Given the description of an element on the screen output the (x, y) to click on. 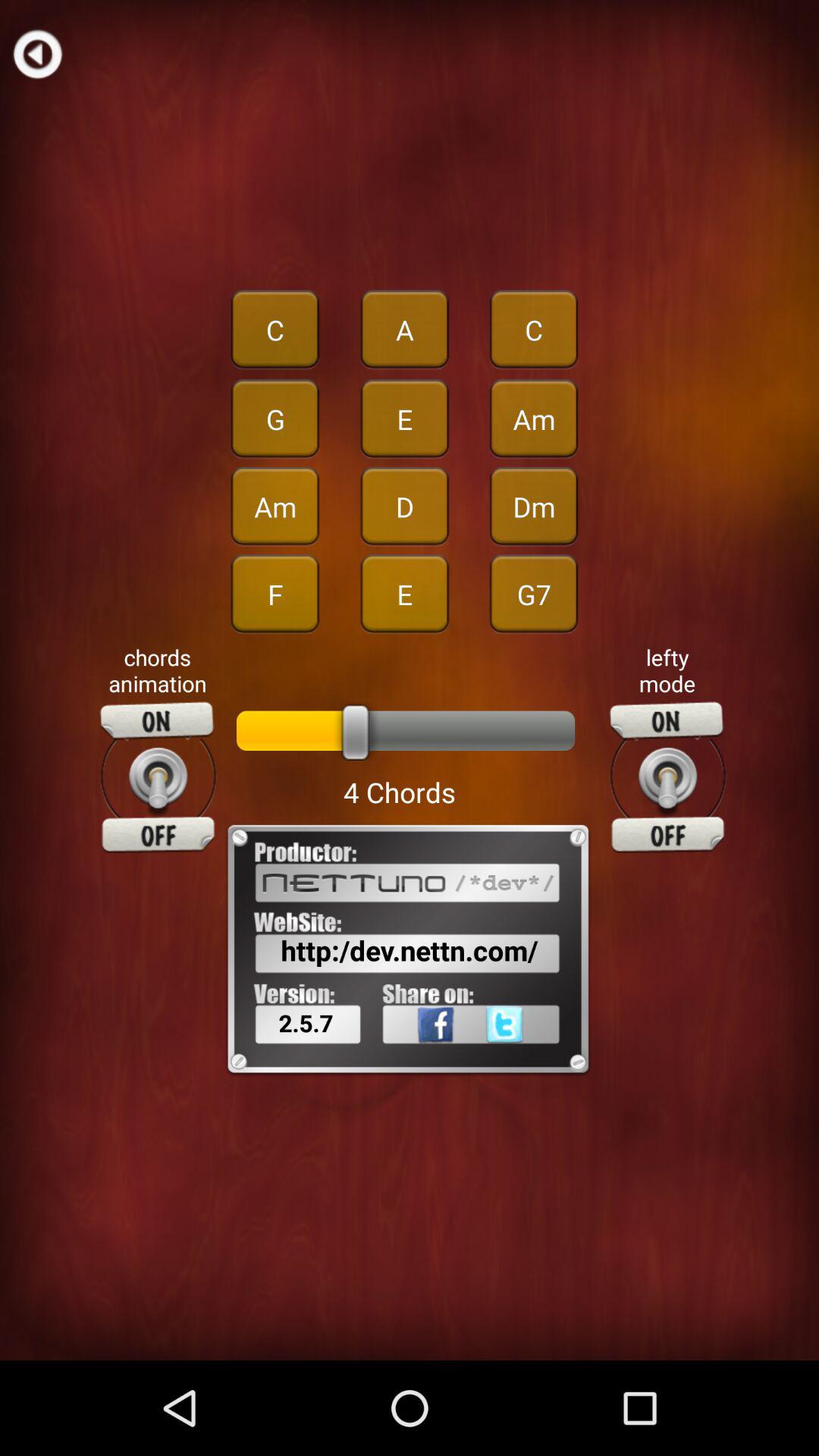
launch the button below the http dev nettn (528, 1057)
